Given the description of an element on the screen output the (x, y) to click on. 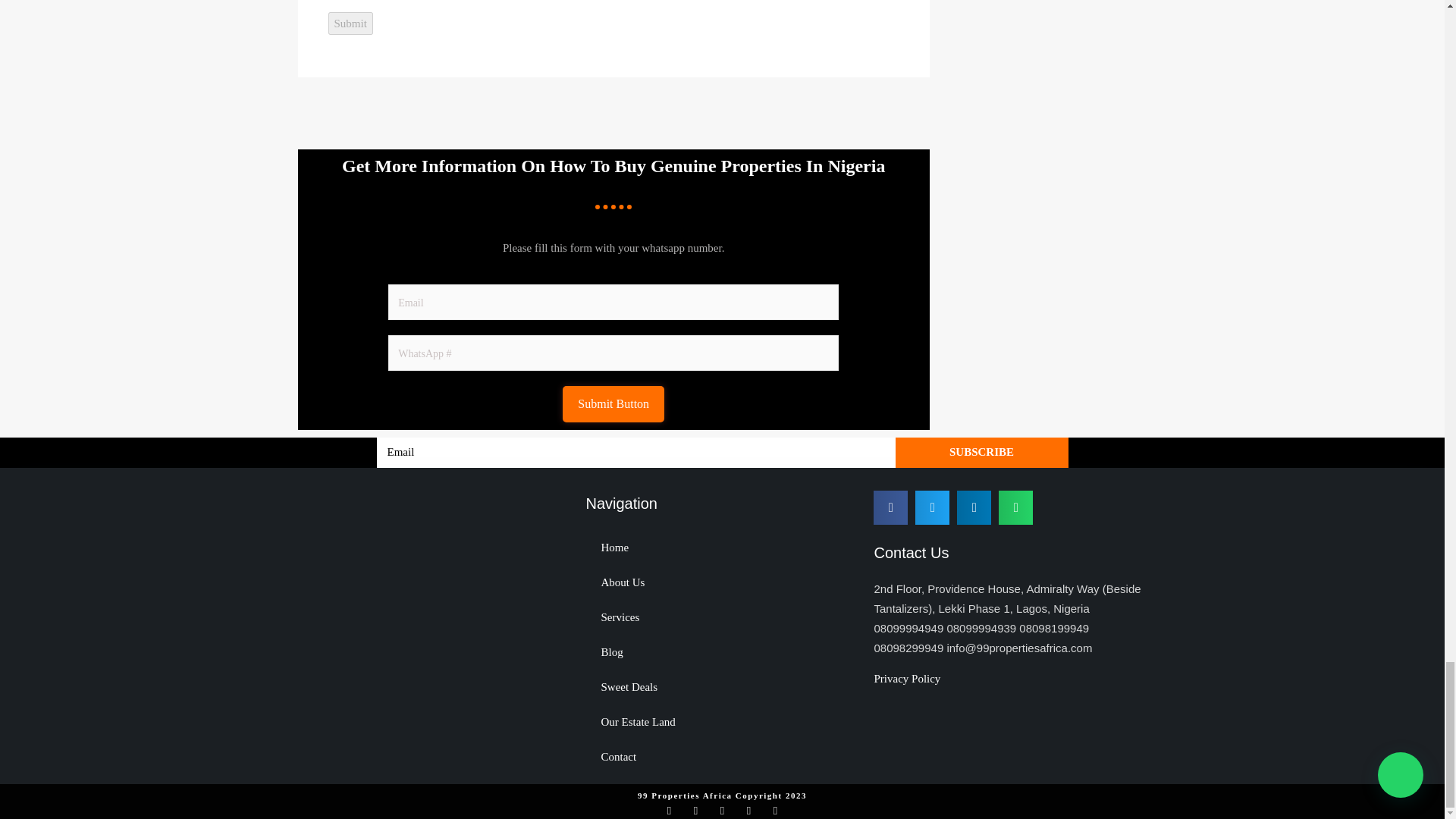
Submit (349, 23)
Submit (349, 23)
